Given the description of an element on the screen output the (x, y) to click on. 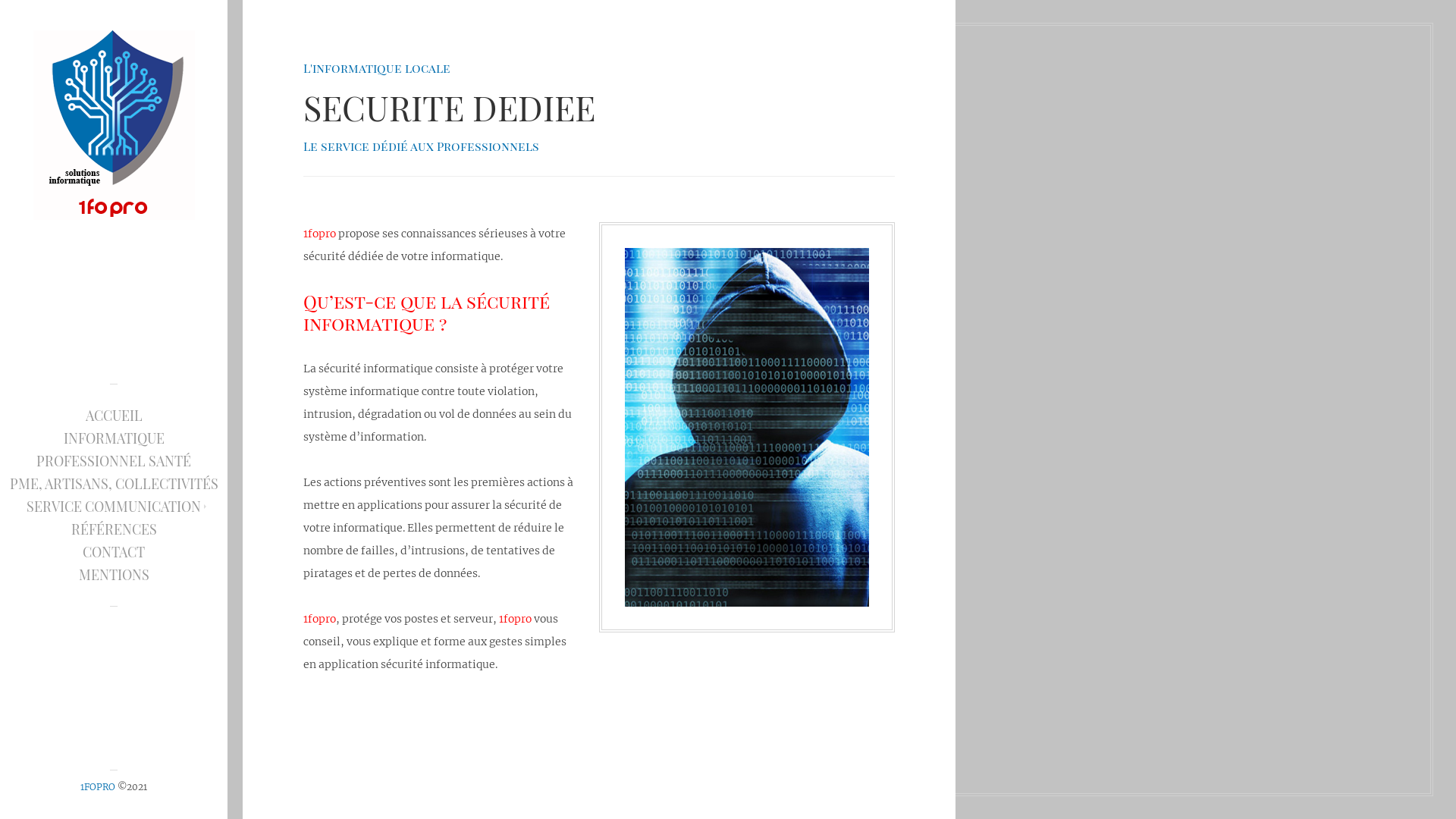
SERVICE COMMUNICATION Element type: text (113, 505)
INFORMATIQUE Element type: text (113, 437)
MENTIONS Element type: text (113, 573)
1FOPRO Element type: text (97, 786)
ACCUEIL Element type: text (113, 414)
CONTACT Element type: text (113, 550)
